Given the description of an element on the screen output the (x, y) to click on. 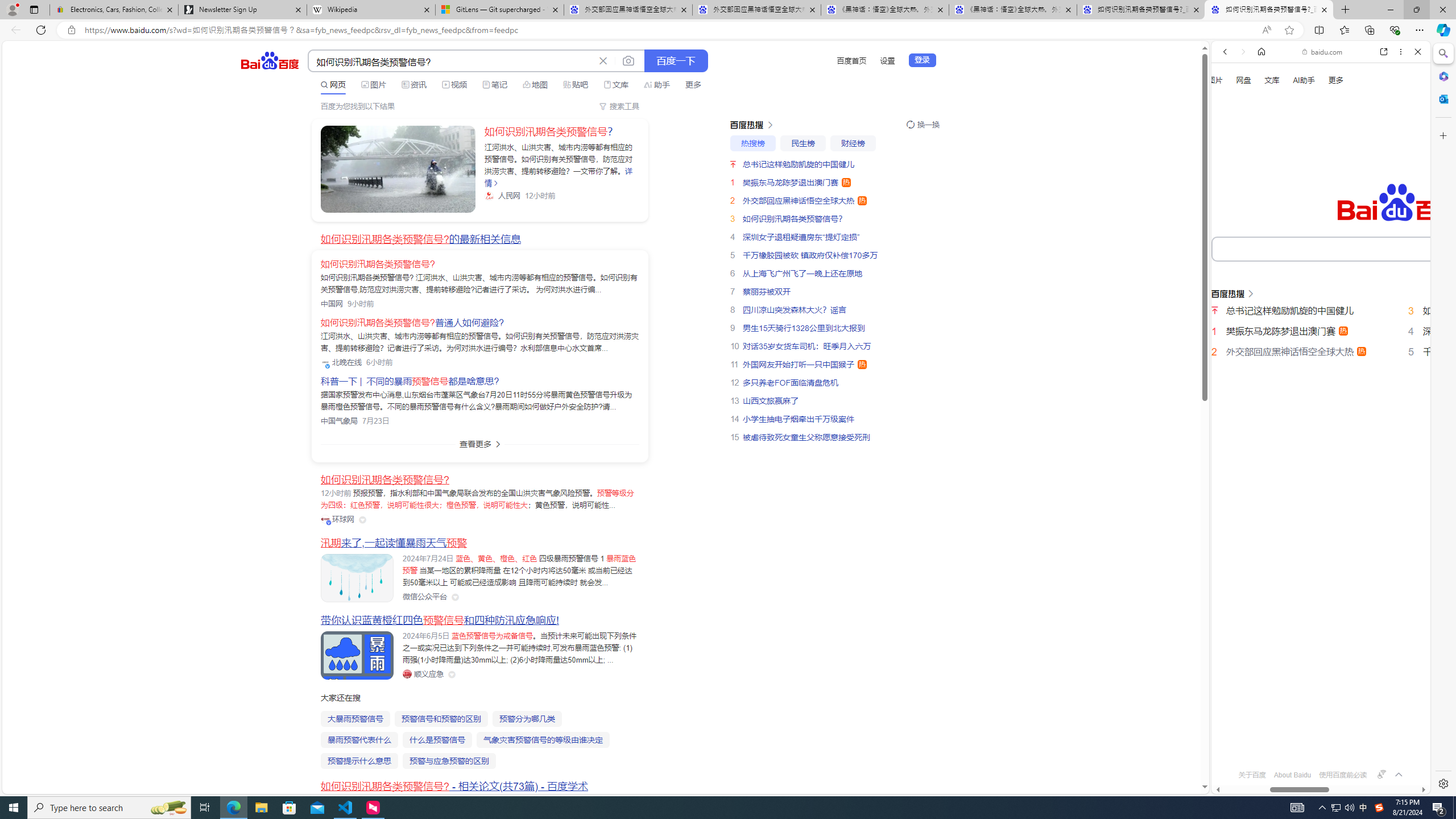
English (US) (1320, 329)
Class: siteLink_9TPP3 (423, 673)
